Given the description of an element on the screen output the (x, y) to click on. 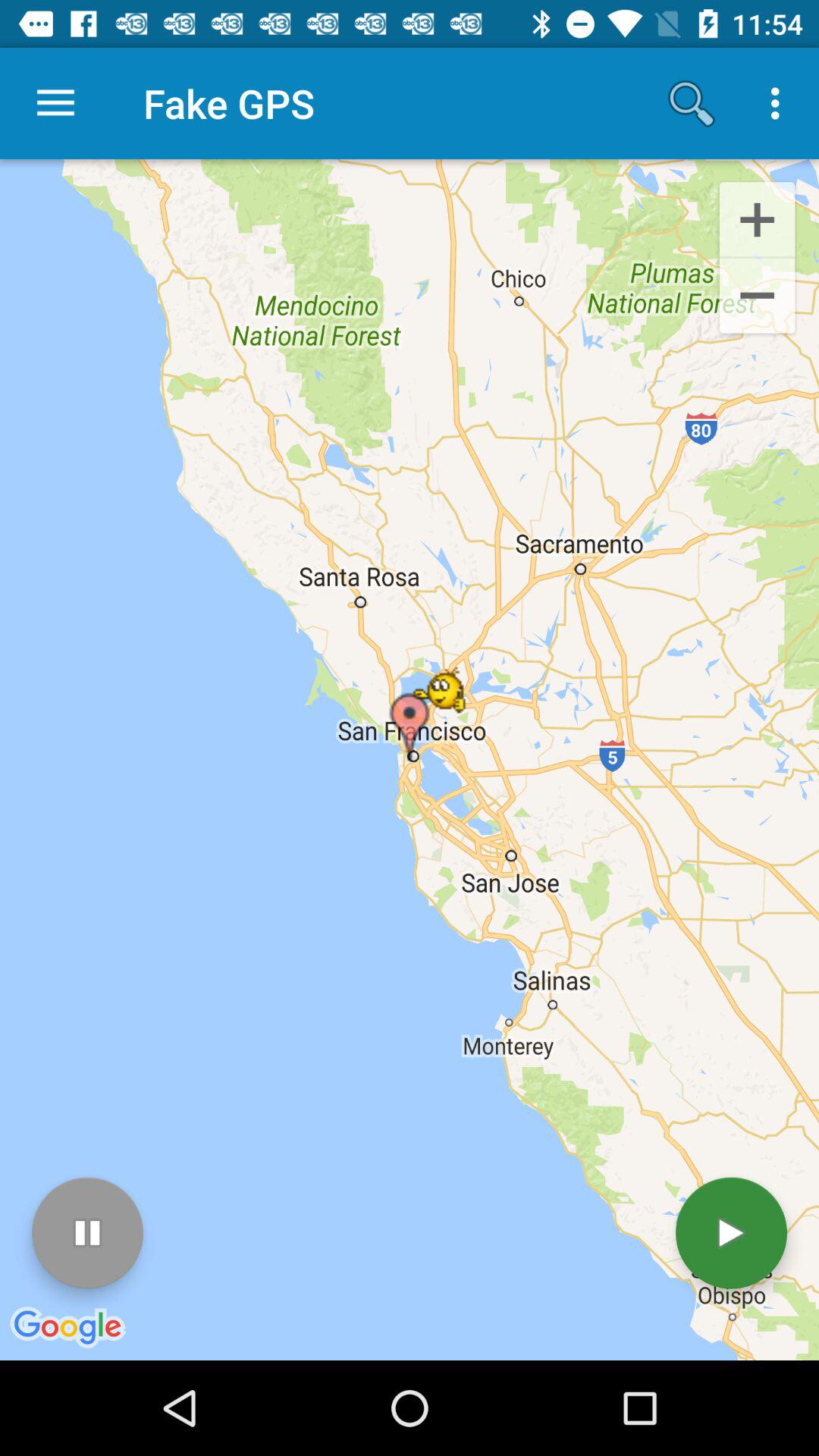
turn on item next to fake gps icon (55, 103)
